Given the description of an element on the screen output the (x, y) to click on. 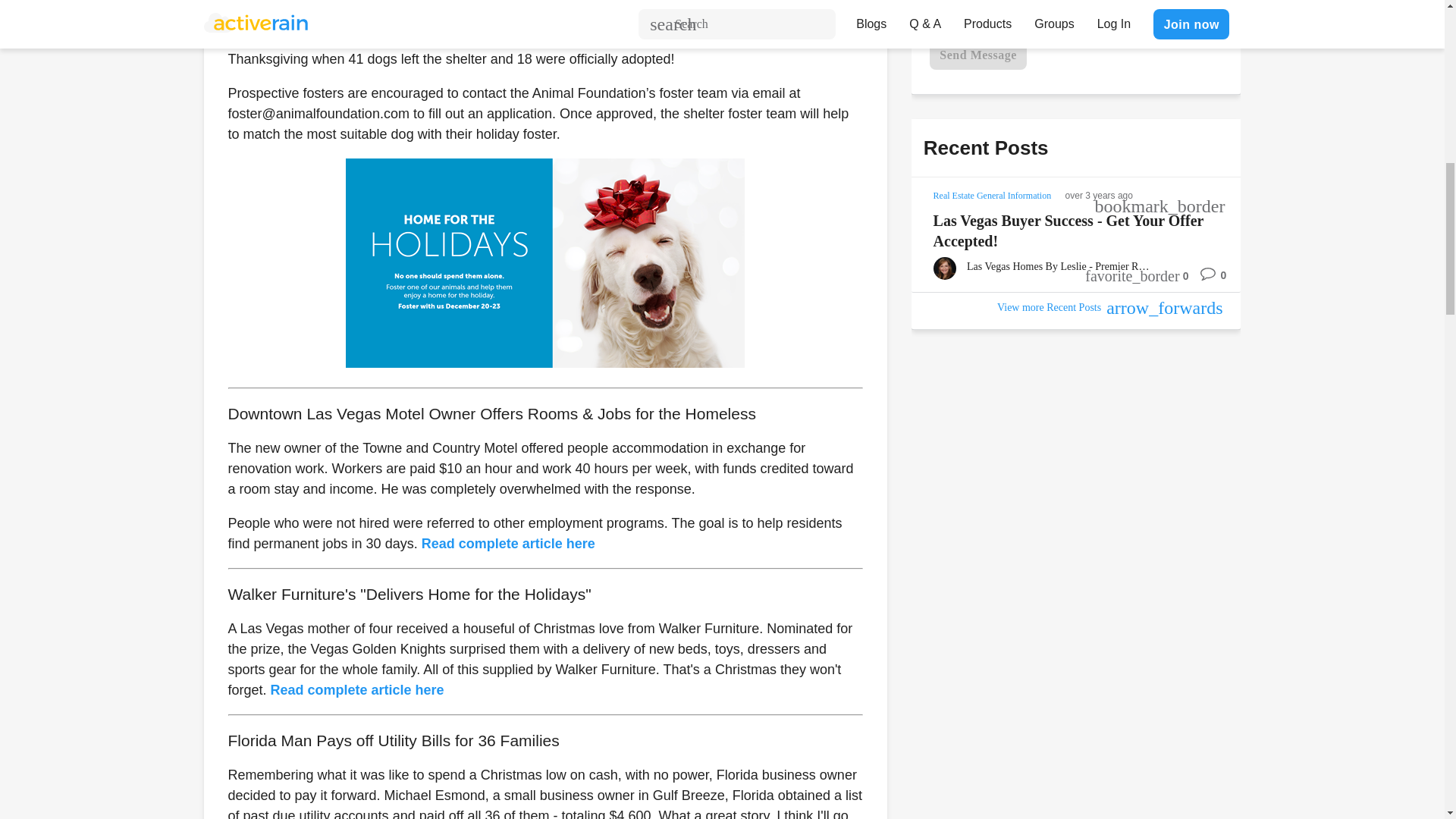
Las Vegas shelter dogs (545, 262)
Send Message (978, 54)
Read complete article here (508, 543)
Read complete article here (357, 689)
